Given the description of an element on the screen output the (x, y) to click on. 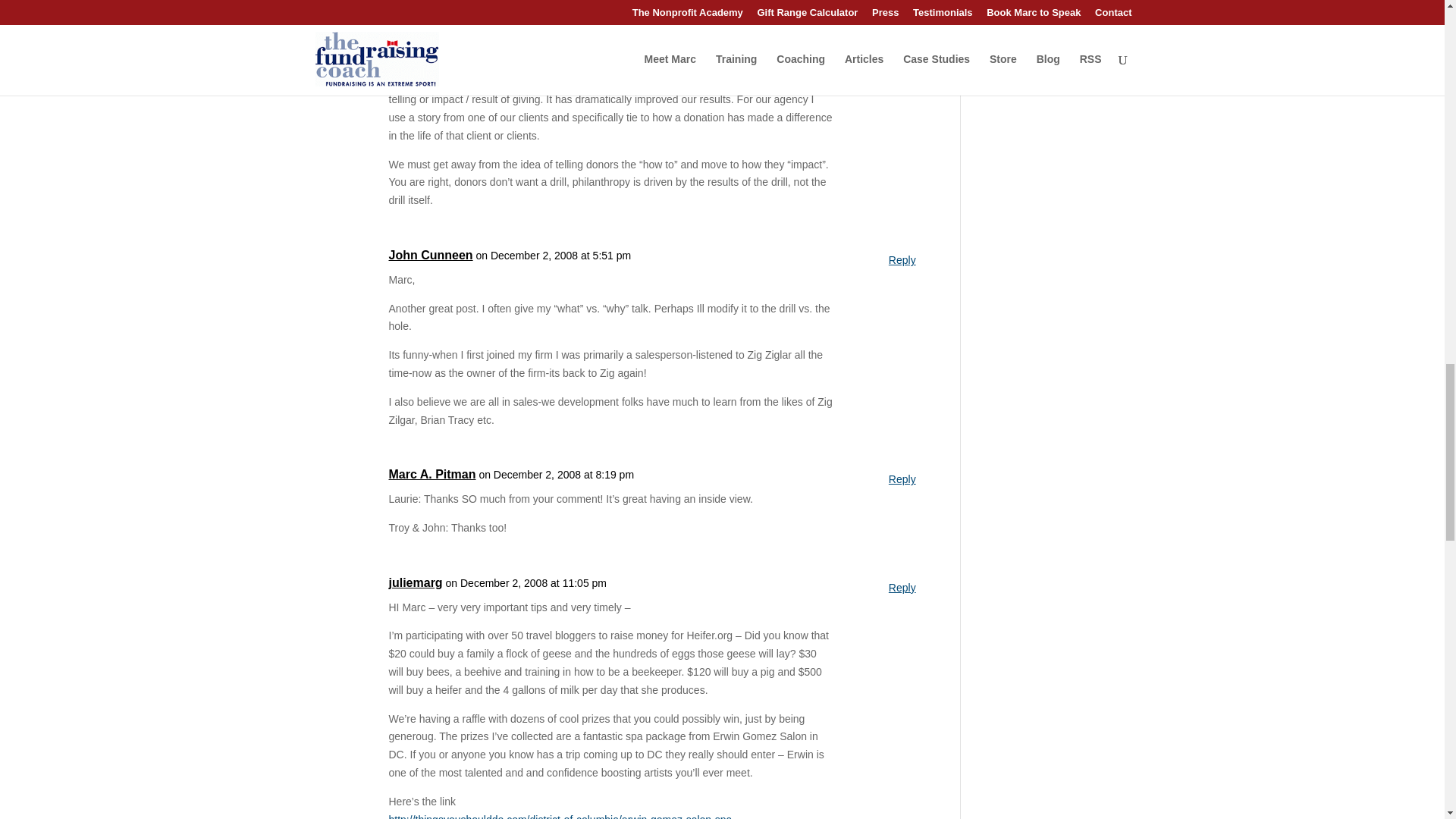
Reply (901, 260)
Reply (901, 45)
Marc A. Pitman (432, 475)
John Cunneen (429, 255)
Troy Coalman (428, 39)
Reply (901, 479)
